Given the description of an element on the screen output the (x, y) to click on. 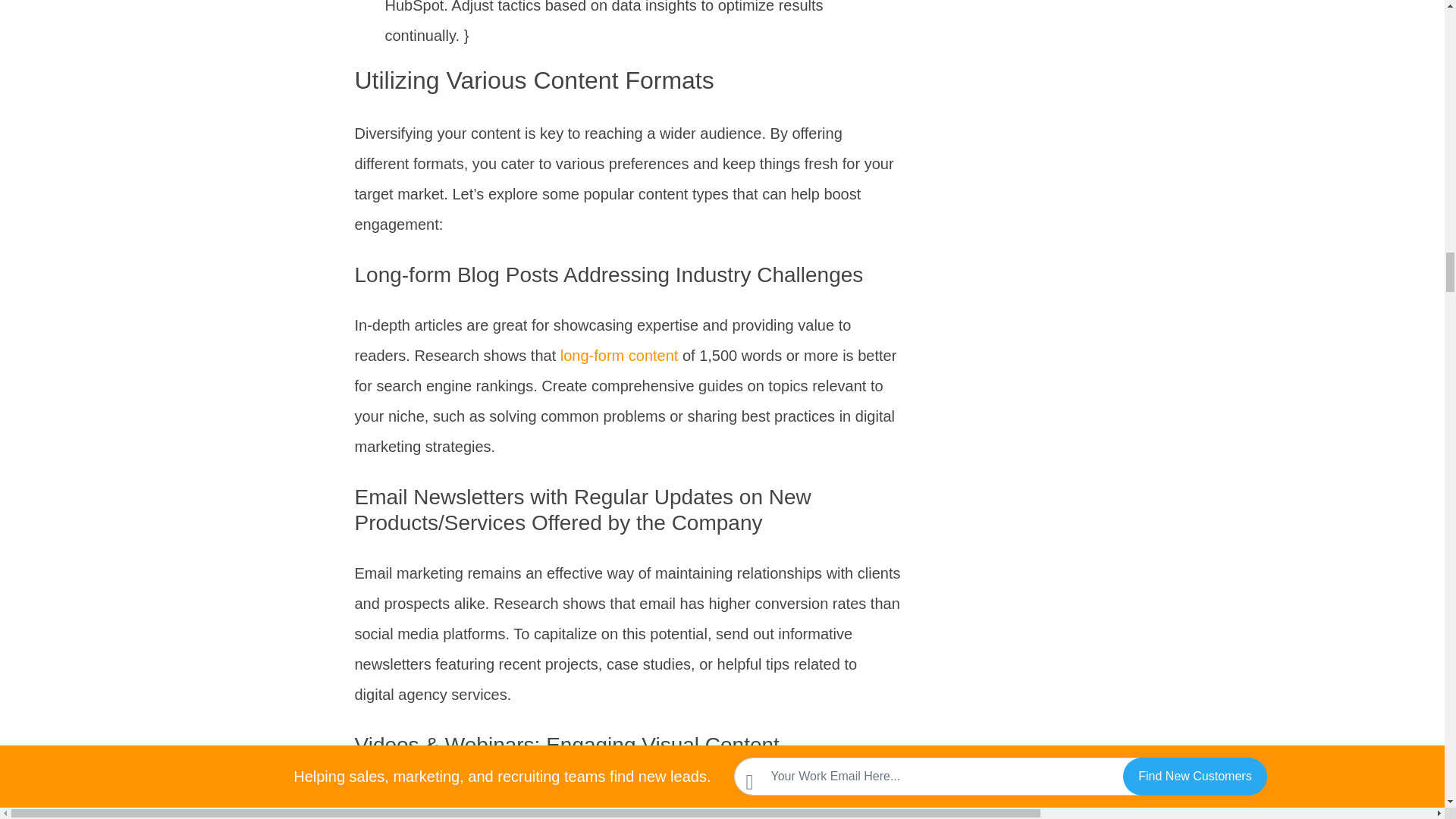
Long-form Content (619, 355)
